Given the description of an element on the screen output the (x, y) to click on. 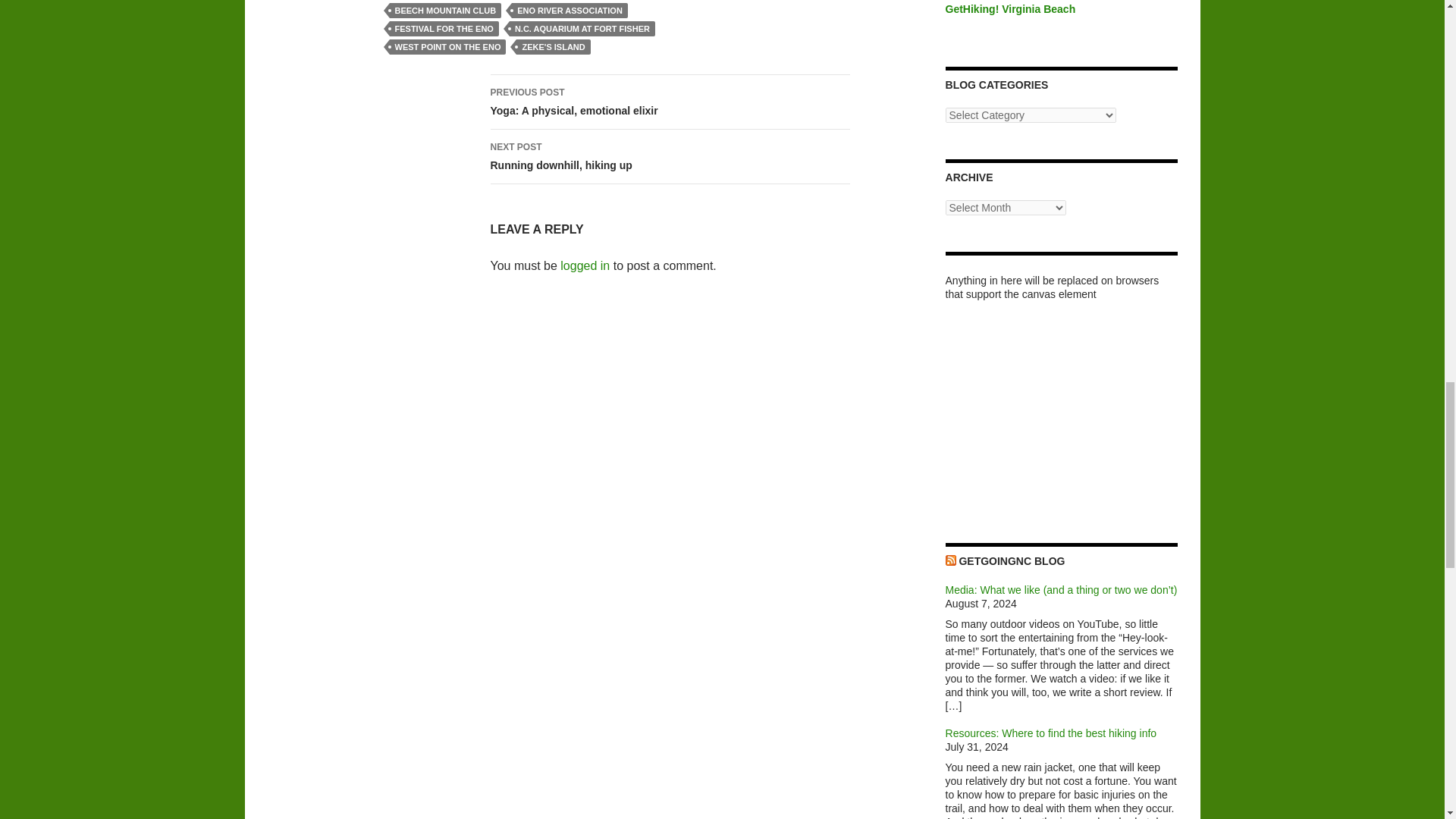
ZEKE'S ISLAND (552, 46)
FESTIVAL FOR THE ENO (444, 28)
BEECH MOUNTAIN CLUB (668, 102)
N.C. AQUARIUM AT FORT FISHER (446, 10)
logged in (582, 28)
ENO RIVER ASSOCIATION (585, 265)
WEST POINT ON THE ENO (569, 10)
